Given the description of an element on the screen output the (x, y) to click on. 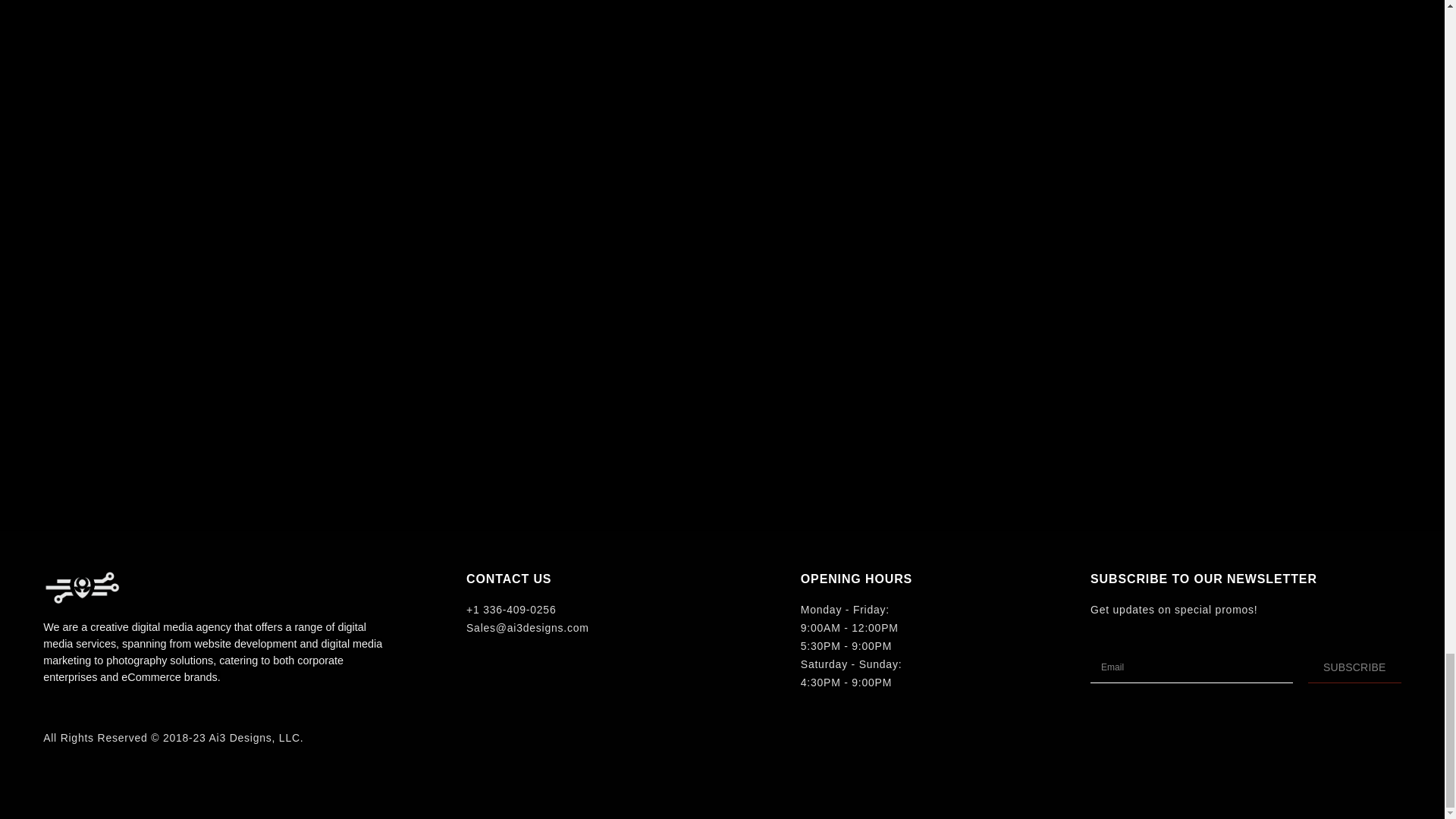
SUBSCRIBE (1353, 667)
